Given the description of an element on the screen output the (x, y) to click on. 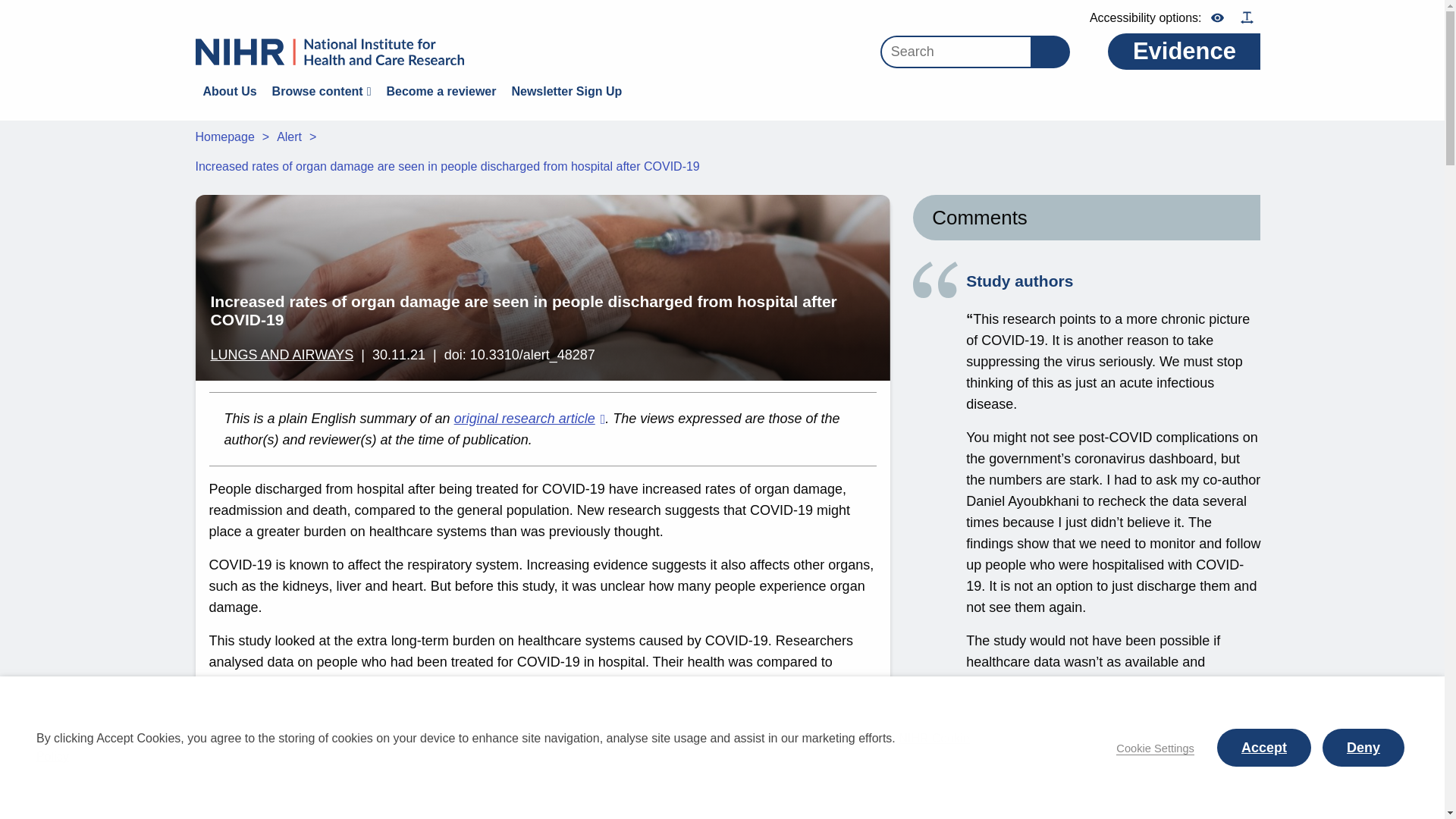
Become a reviewer (440, 92)
Newsletter Sign Up (565, 92)
Add easy reading (1246, 17)
Alert (288, 136)
About Us (229, 92)
Homepage (224, 136)
Add text contrast (1216, 17)
External link to view the Original Article (529, 418)
Browse content (321, 92)
